Given the description of an element on the screen output the (x, y) to click on. 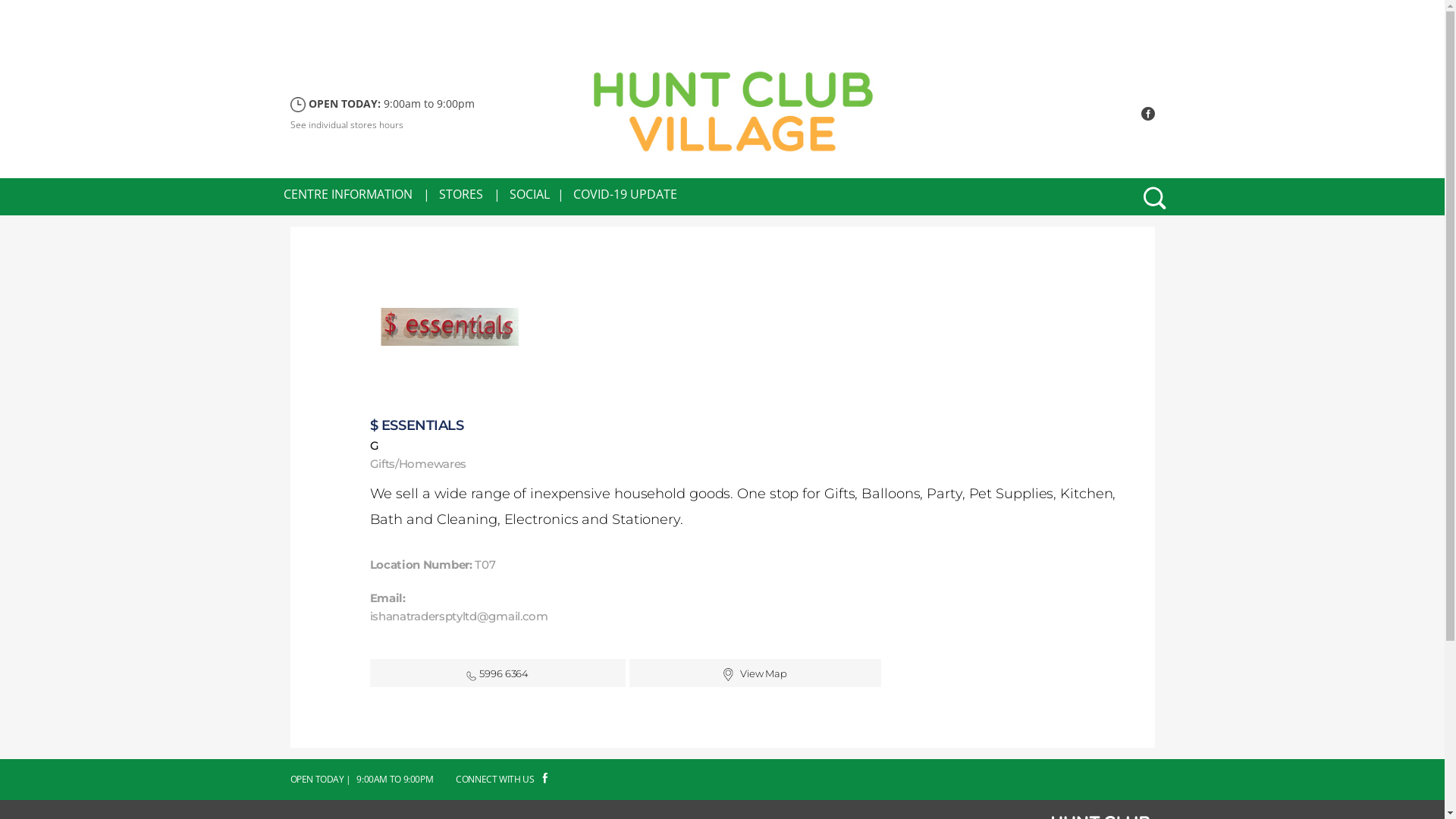
View Map Element type: text (763, 673)
CONNECT WITH US Element type: text (501, 779)
ishanatradersptyltd@gmail.com Element type: text (459, 615)
See individual stores hours Element type: text (345, 123)
COVID-19 UPDATE Element type: text (624, 194)
SOCIAL| Element type: text (536, 194)
CENTRE INFORMATION | Element type: text (356, 194)
STORES | Element type: text (468, 194)
